Given the description of an element on the screen output the (x, y) to click on. 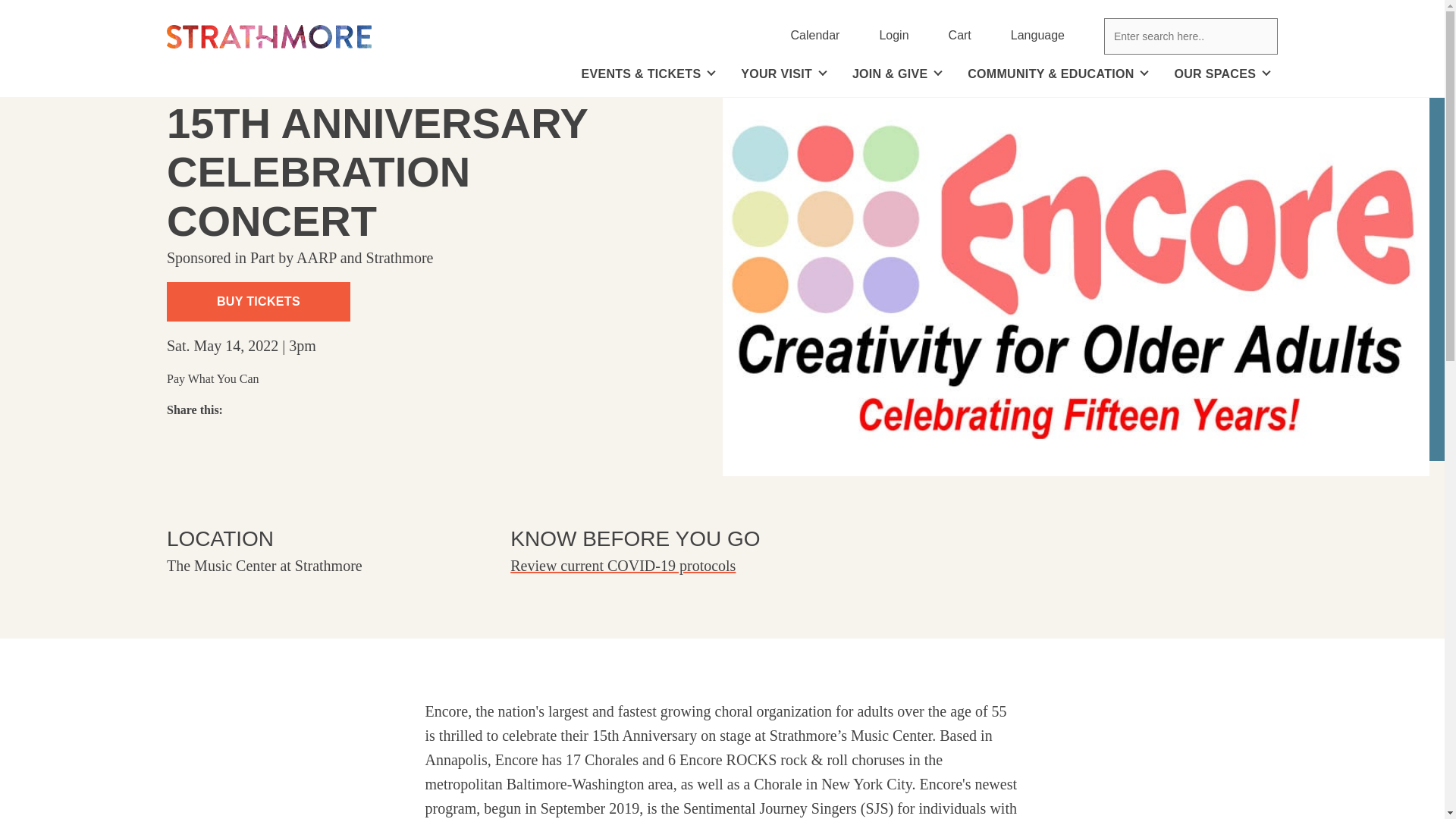
Cart (960, 35)
Welcome Back (623, 565)
Language (1037, 35)
Search (787, 74)
Login (1262, 36)
Calendar (893, 35)
